Given the description of an element on the screen output the (x, y) to click on. 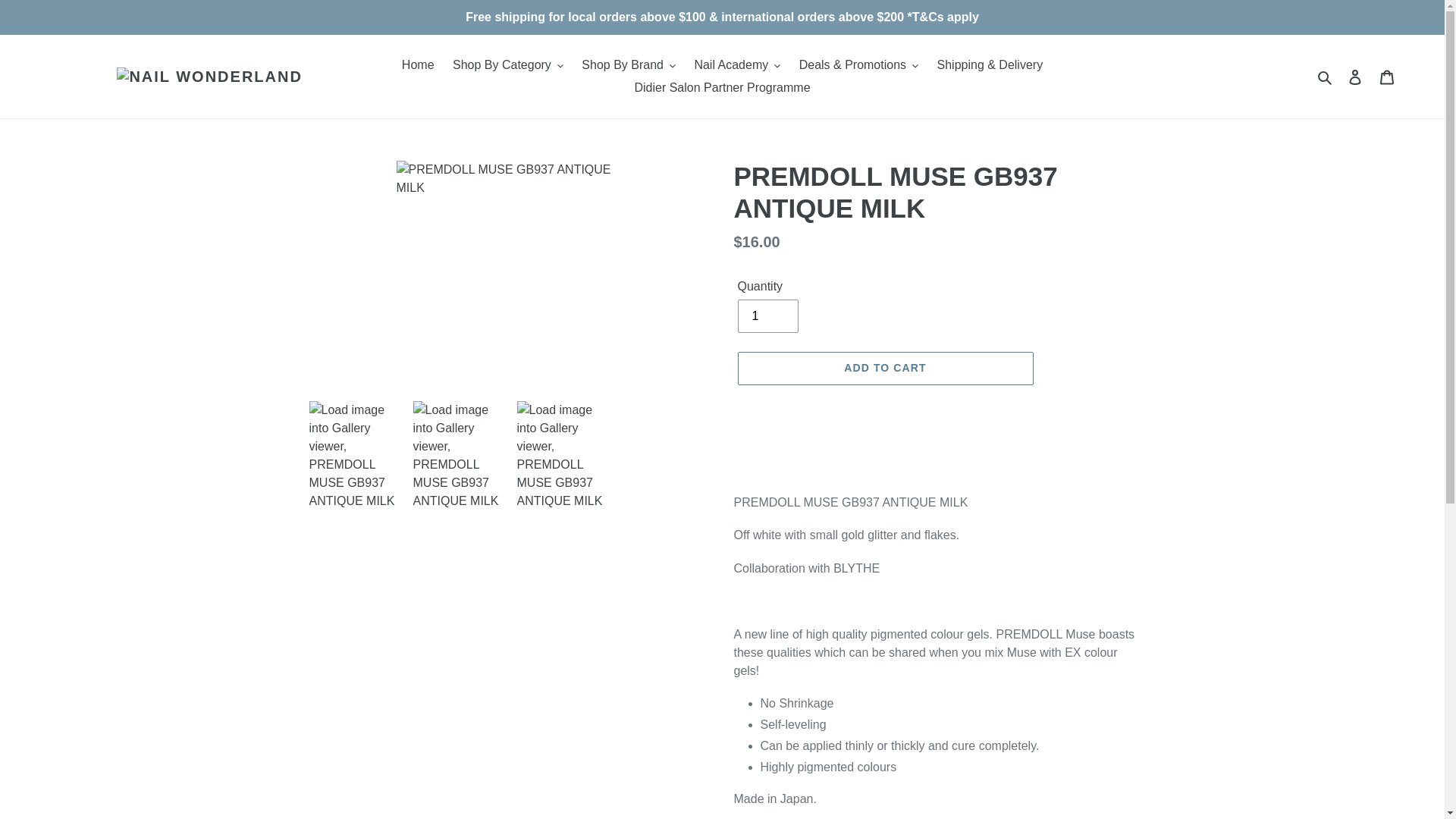
1 (766, 315)
Shop By Category (507, 65)
Home (418, 65)
